Given the description of an element on the screen output the (x, y) to click on. 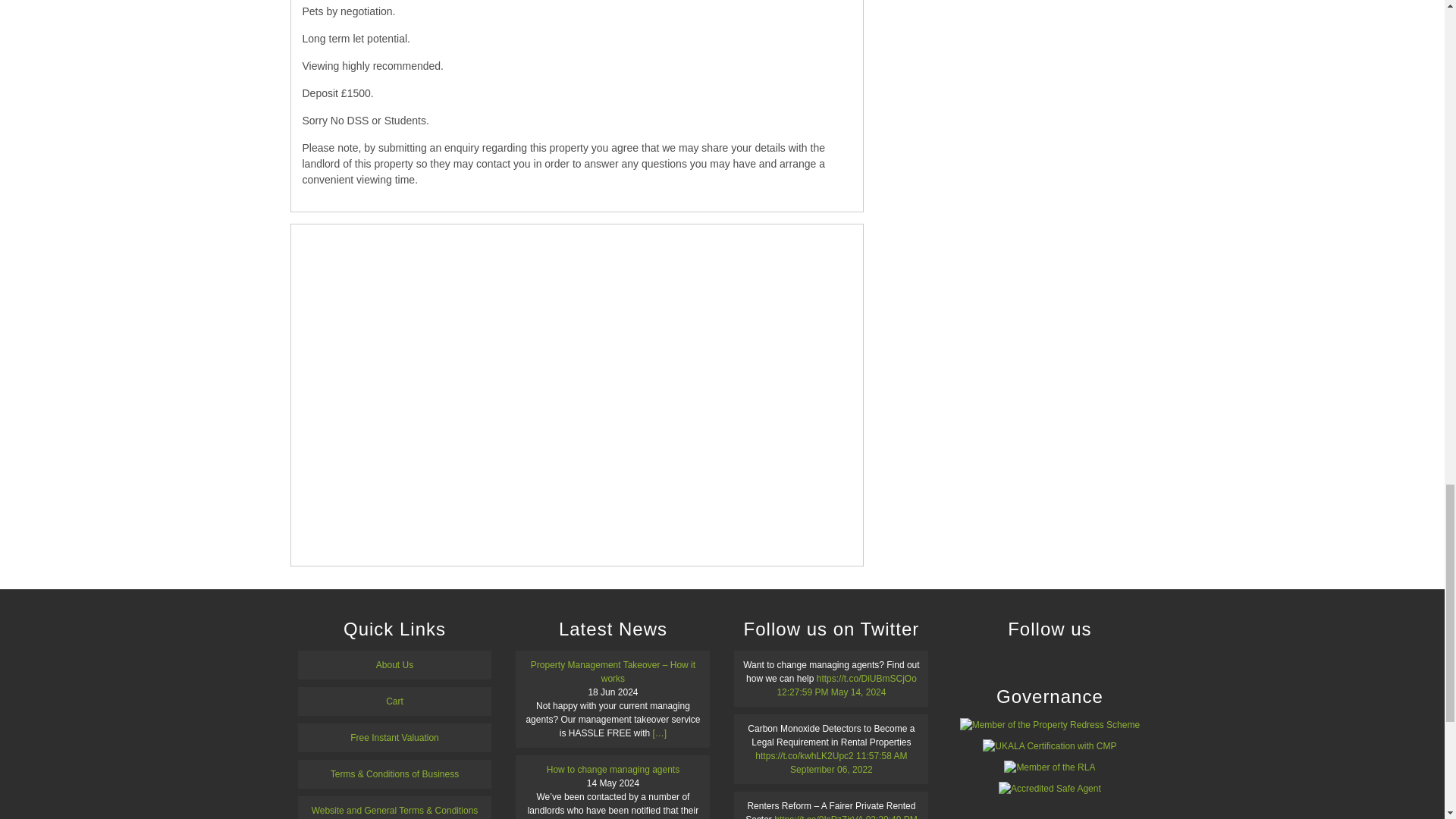
Free Instant Valuation (394, 737)
Cart (394, 701)
About Us (394, 665)
